Given the description of an element on the screen output the (x, y) to click on. 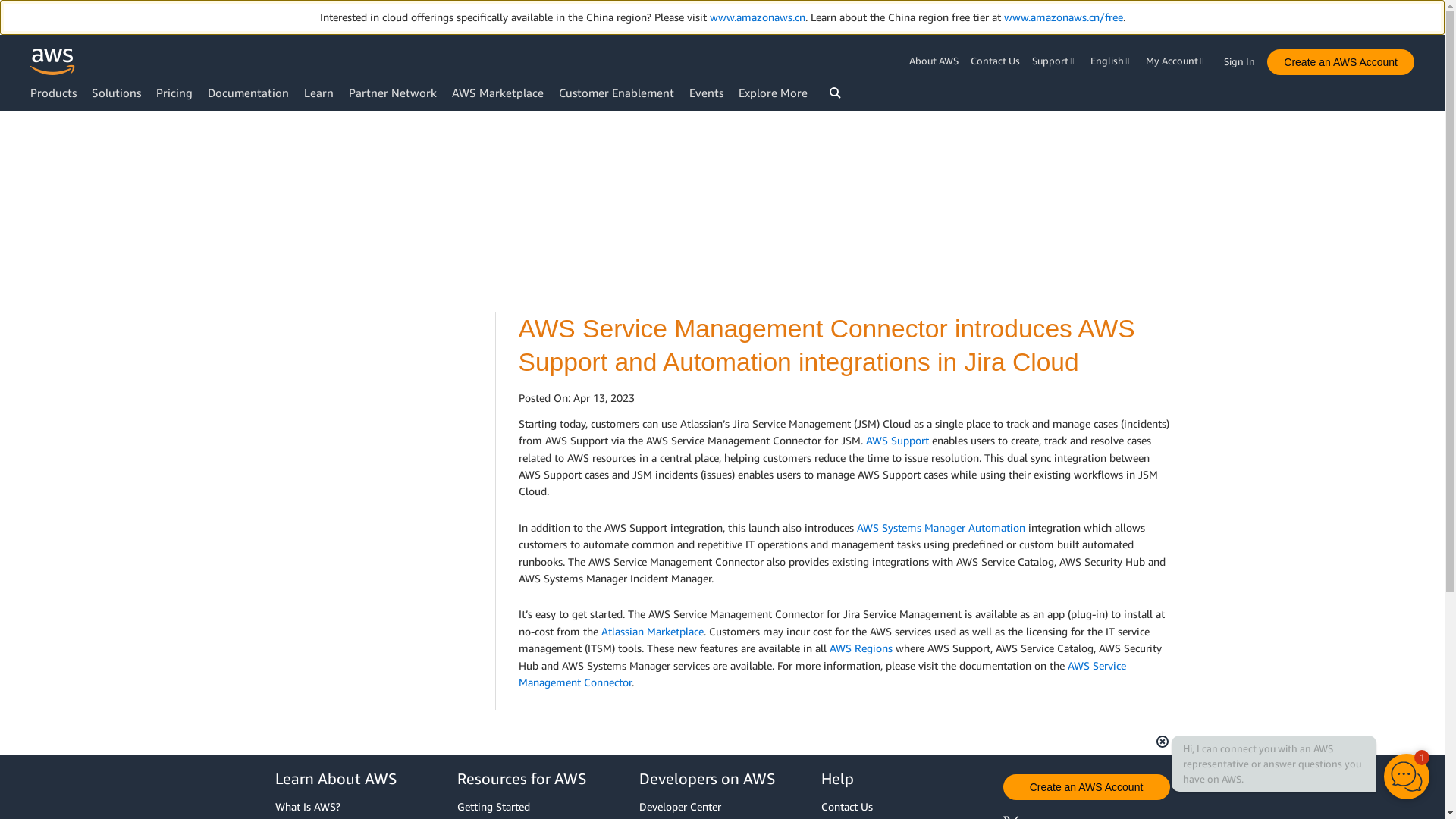
Contact Us (994, 60)
Create an AWS Account (1339, 62)
Linkedin (1106, 816)
About AWS (935, 60)
Support  (1055, 60)
English  (1112, 60)
Skip to main content (7, 140)
Solutions (116, 92)
Facebook (1065, 816)
Explore More (773, 92)
Events (705, 92)
Twitter (1023, 816)
Sign In (1244, 58)
Click here to return to Amazon Web Services homepage (52, 61)
Customer Enablement (616, 92)
